Given the description of an element on the screen output the (x, y) to click on. 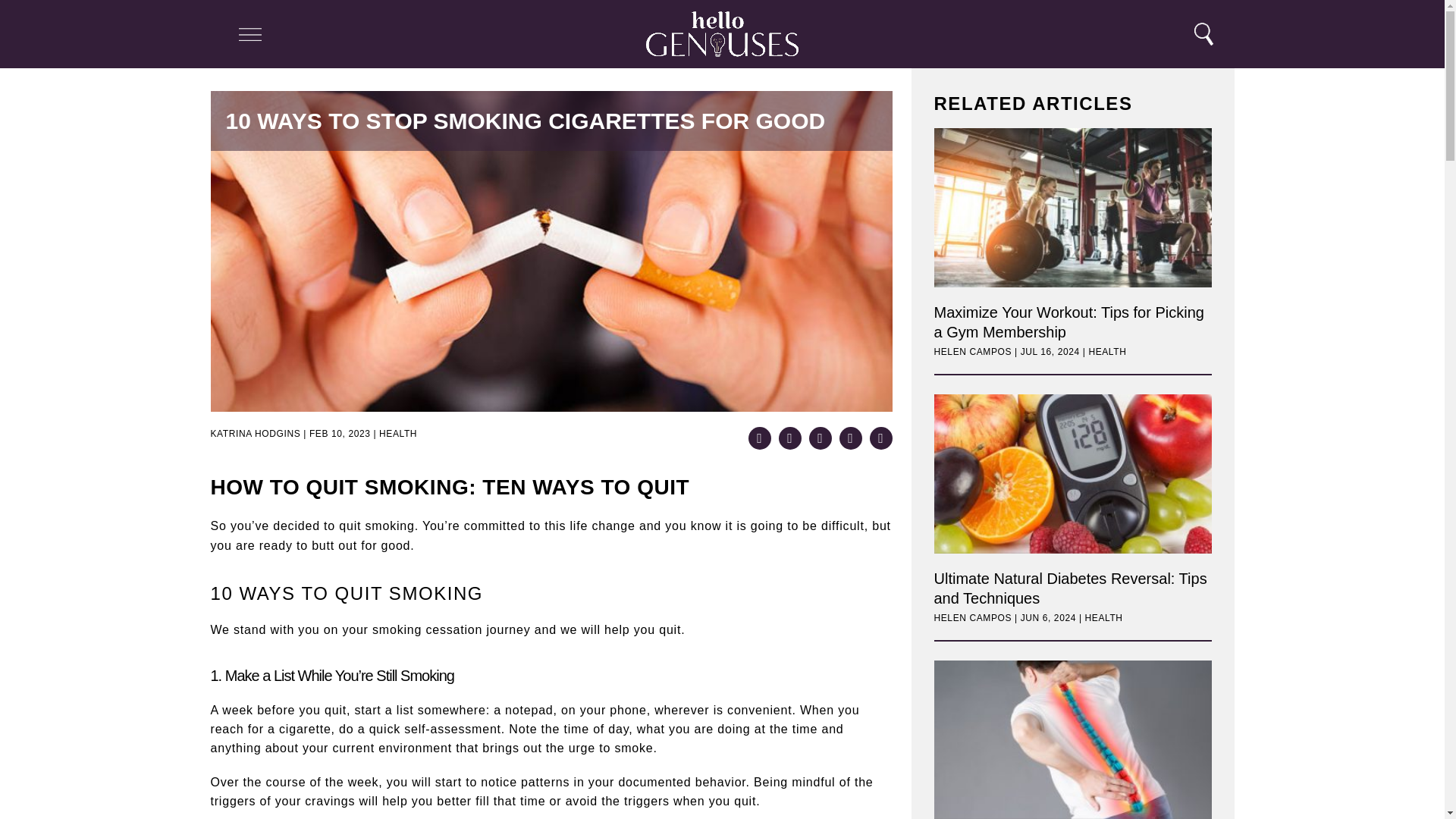
Bookmark (880, 437)
Facebook (788, 437)
Close (22, 36)
Twitter (819, 437)
HEALTH (397, 433)
Home (721, 33)
ENTERTAINMENT (120, 16)
Menu (249, 33)
KATRINA HODGINS (256, 433)
